Given the description of an element on the screen output the (x, y) to click on. 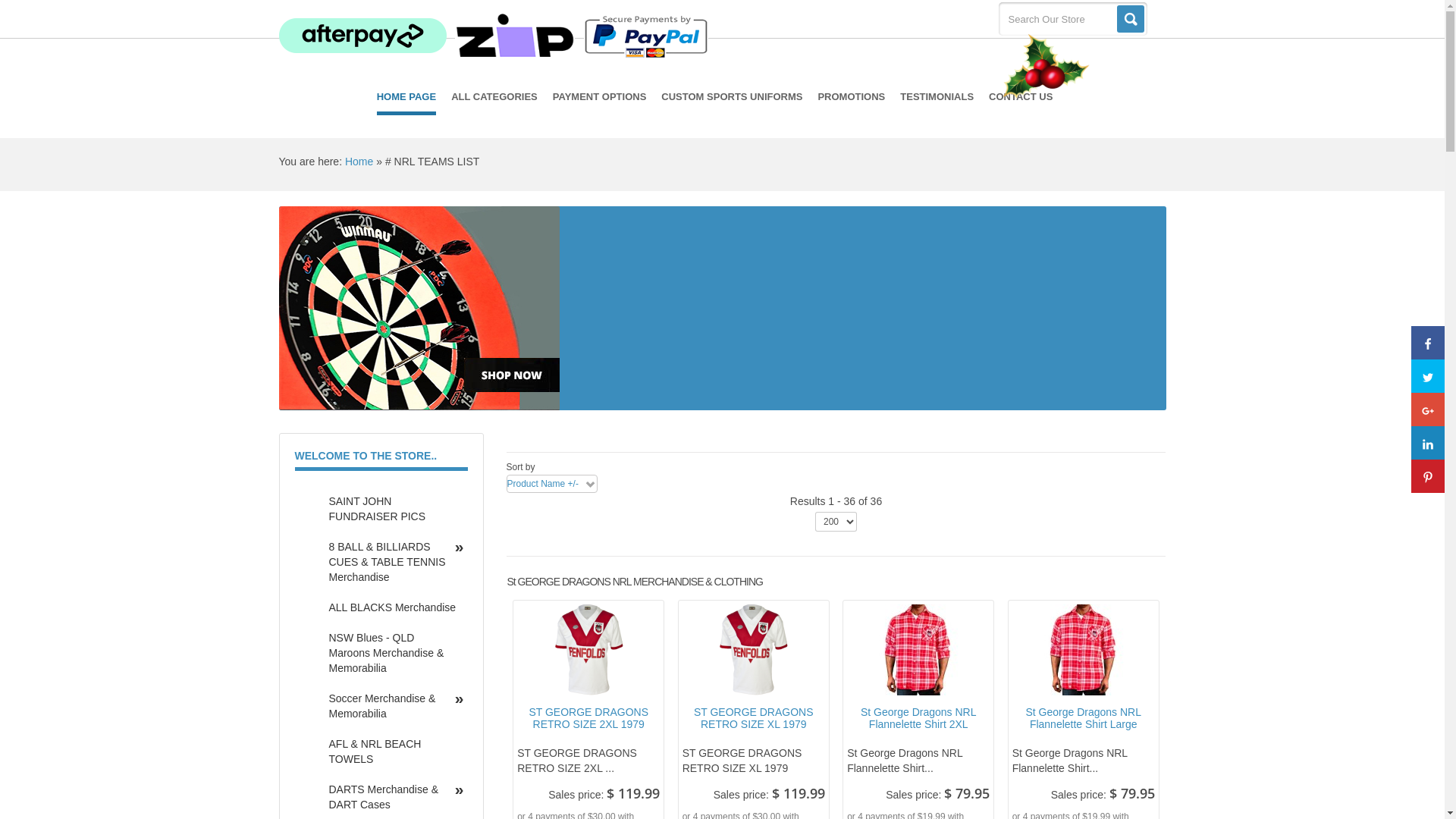
HOME PAGE Element type: text (406, 98)
CUSTOM SPORTS UNIFORMS Element type: text (731, 96)
ALL BLACKS Merchandise Element type: text (391, 607)
CONTACT US Element type: text (1020, 96)
Soccer Merchandise & Memorabilia Element type: text (391, 705)
SAINT JOHN FUNDRAISER PICS Element type: text (391, 508)
TESTIMONIALS Element type: text (936, 96)
       St George Dragons NRL Flannelette Shirt 2XL Element type: hover (917, 649)
PAYMENT OPTIONS Element type: text (599, 96)
ALL CATEGORIES Element type: text (494, 96)
NSW Blues - QLD Maroons Merchandise & Memorabilia Element type: text (391, 652)
       St George Dragons NRL Flannelette Shirt Large Element type: hover (1083, 649)
8 BALL & BILLIARDS CUES & TABLE TENNIS Merchandise Element type: text (391, 561)
        ST GEORGE DRAGONS RETRO SIZE XL 1979 Element type: hover (753, 649)
Product Name +/- Element type: text (541, 483)
ST GEORGE DRAGONS RETRO SIZE XL 1979 Element type: text (753, 719)
Search Element type: text (1129, 18)
ST GEORGE DRAGONS RETRO SIZE 2XL 1979 Element type: text (588, 719)
St George Dragons NRL Flannelette Shirt 2XL Element type: text (918, 719)
St George Dragons NRL Flannelette Shirt Large Element type: text (1083, 719)
        ST GEORGE DRAGONS RETRO SIZE 2XL 1979 Element type: hover (588, 649)
Home Element type: text (359, 161)
AFL & NRL BEACH TOWELS Element type: text (391, 751)
PROMOTIONS Element type: text (850, 96)
https://hotstuffsporting.com.au/darts-accessories Element type: text (722, 324)
